Given the description of an element on the screen output the (x, y) to click on. 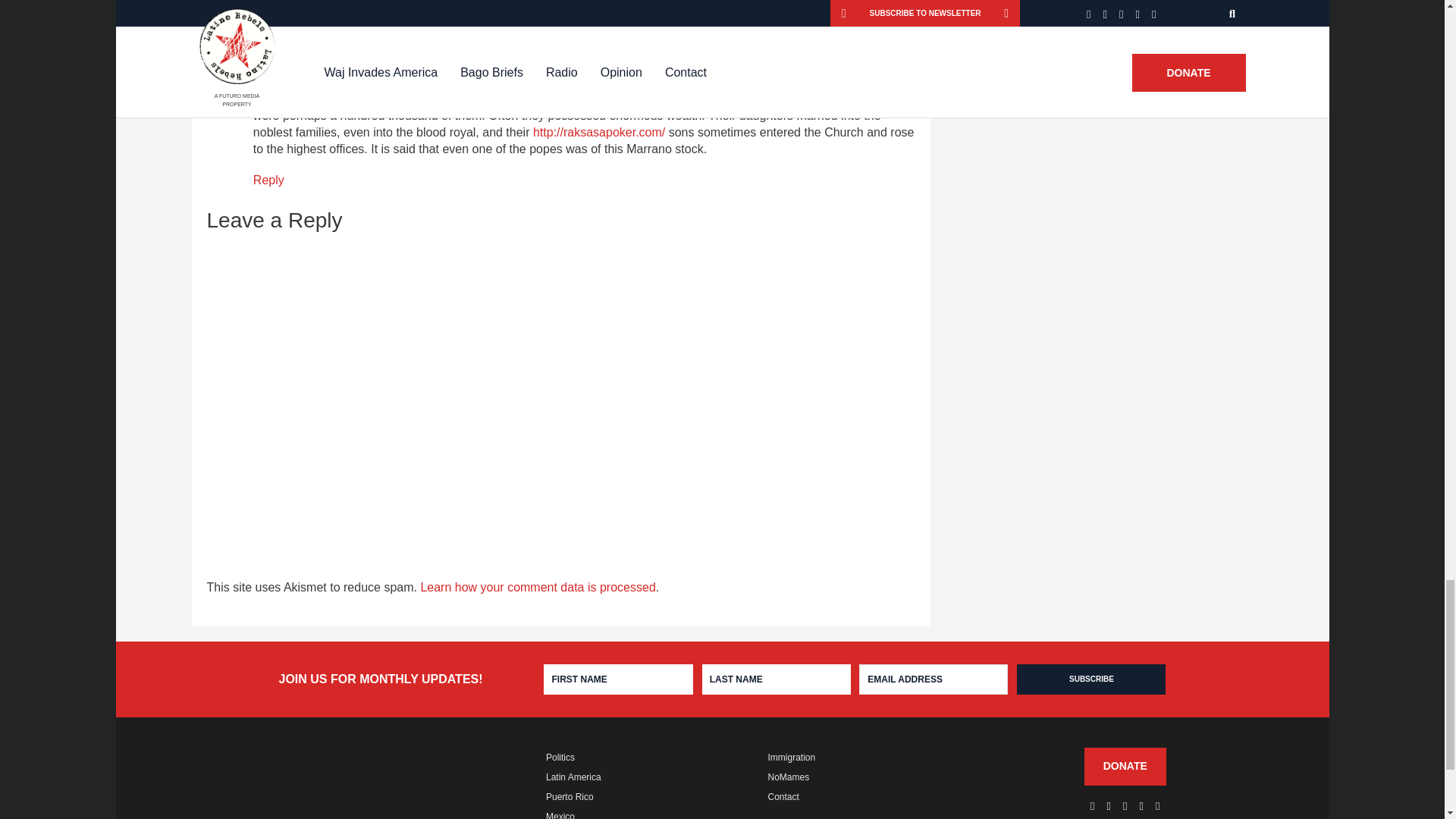
Subscribe (1091, 679)
